Given the description of an element on the screen output the (x, y) to click on. 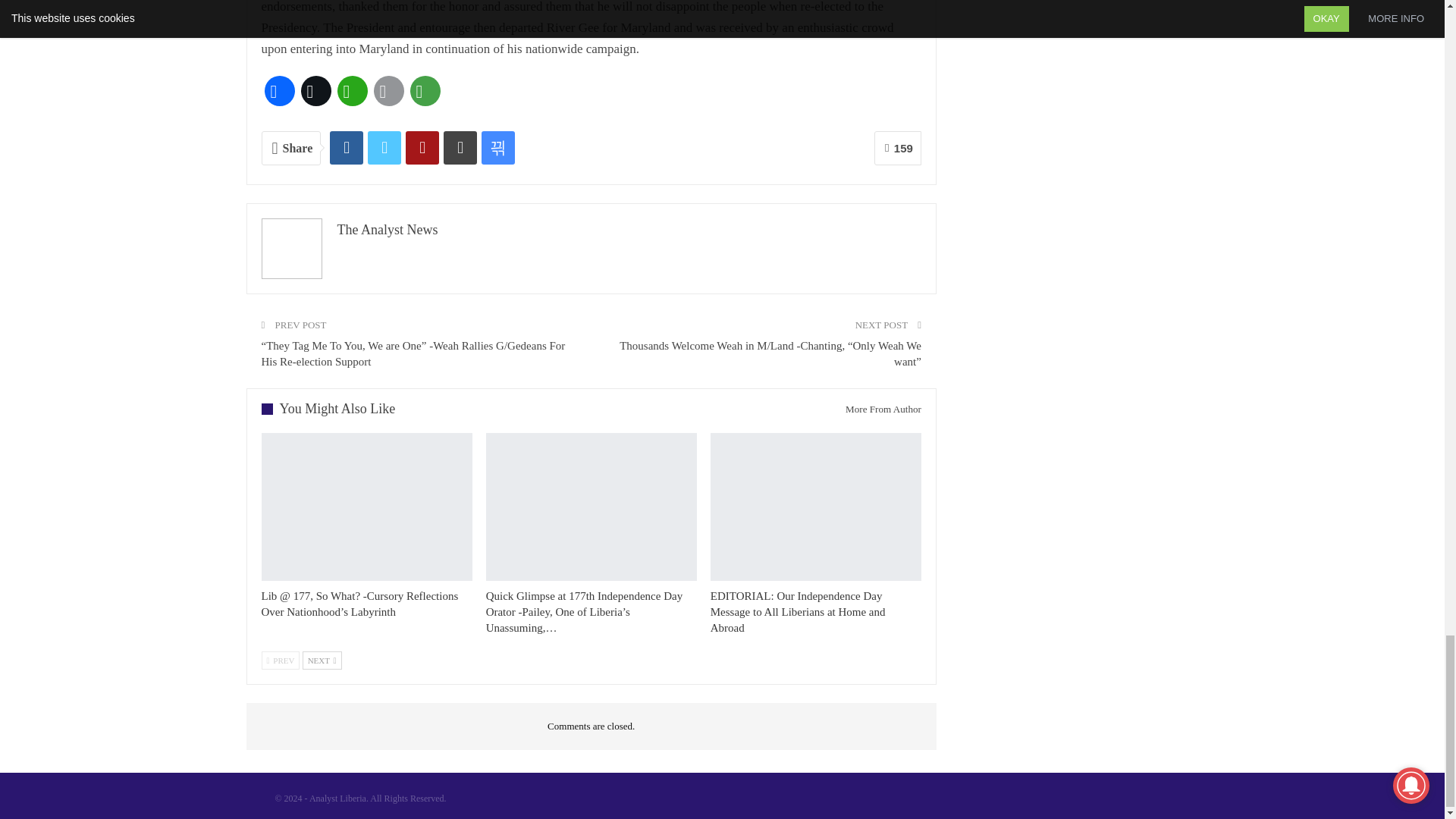
More Options (424, 90)
Email This (387, 90)
WhatsApp (351, 90)
Facebook (278, 90)
